Given the description of an element on the screen output the (x, y) to click on. 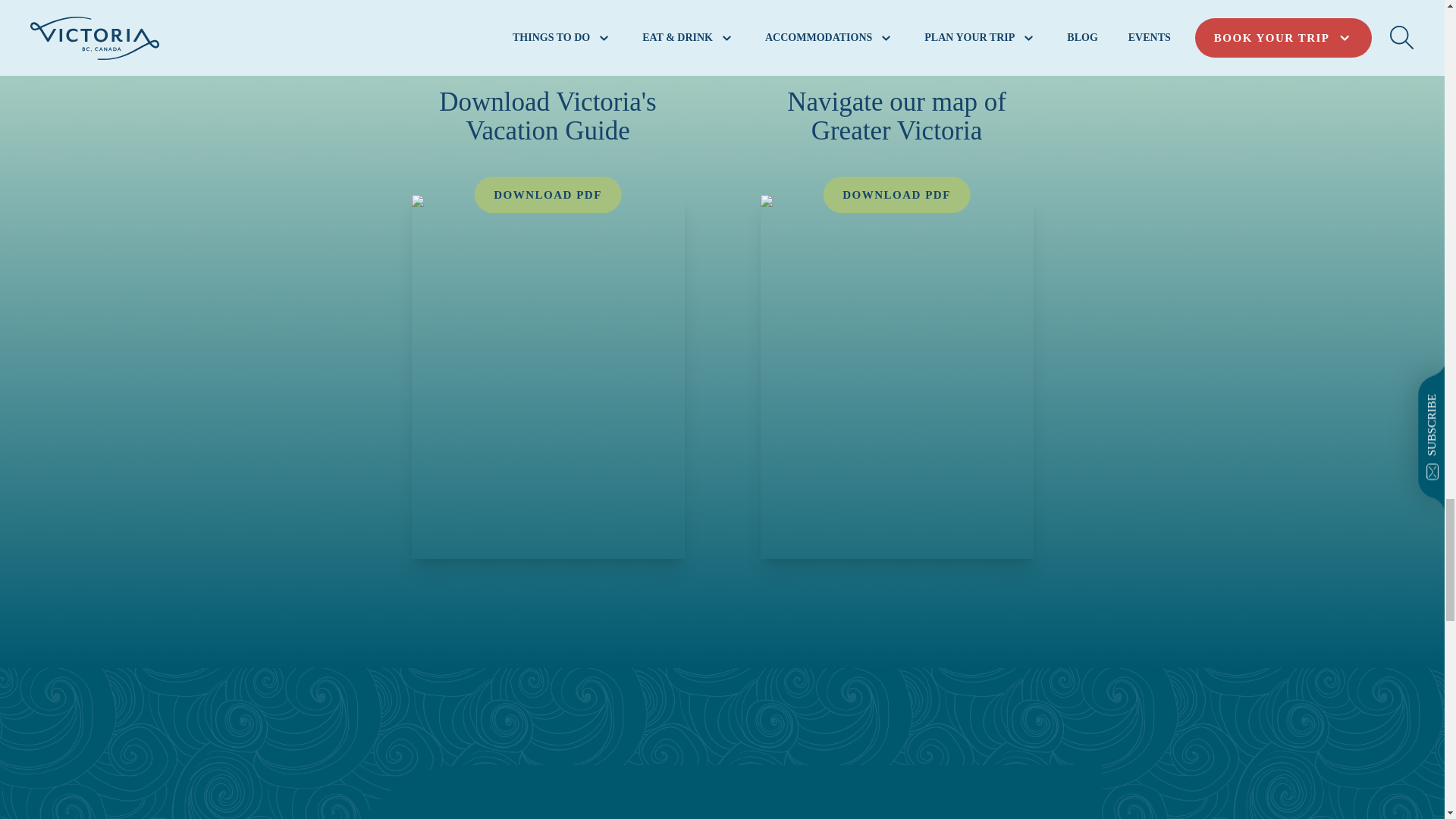
DOWNLOAD PDF (896, 194)
DOWNLOAD PDF (547, 194)
